Given the description of an element on the screen output the (x, y) to click on. 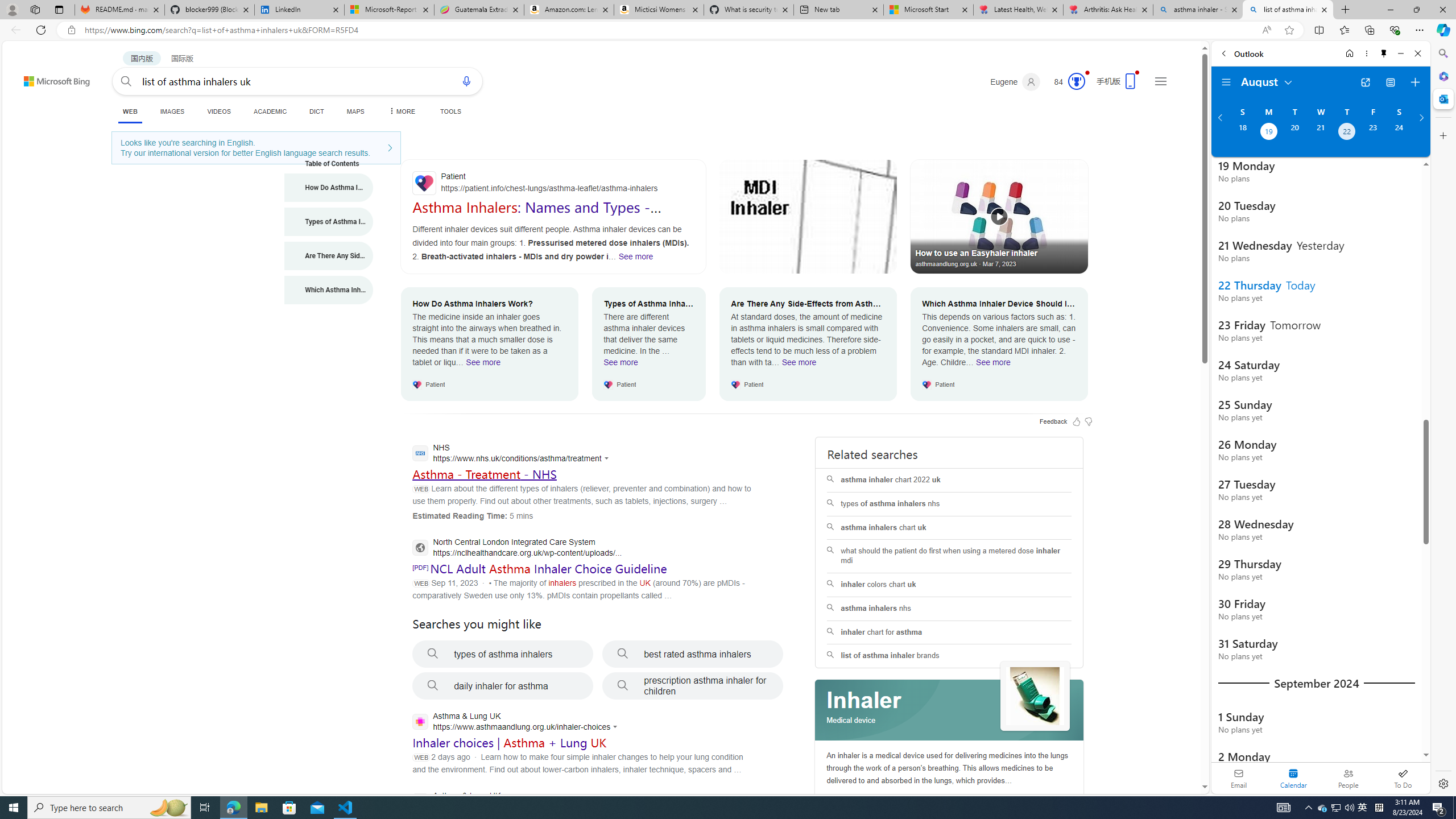
list of asthma inhaler brands (949, 656)
